Given the description of an element on the screen output the (x, y) to click on. 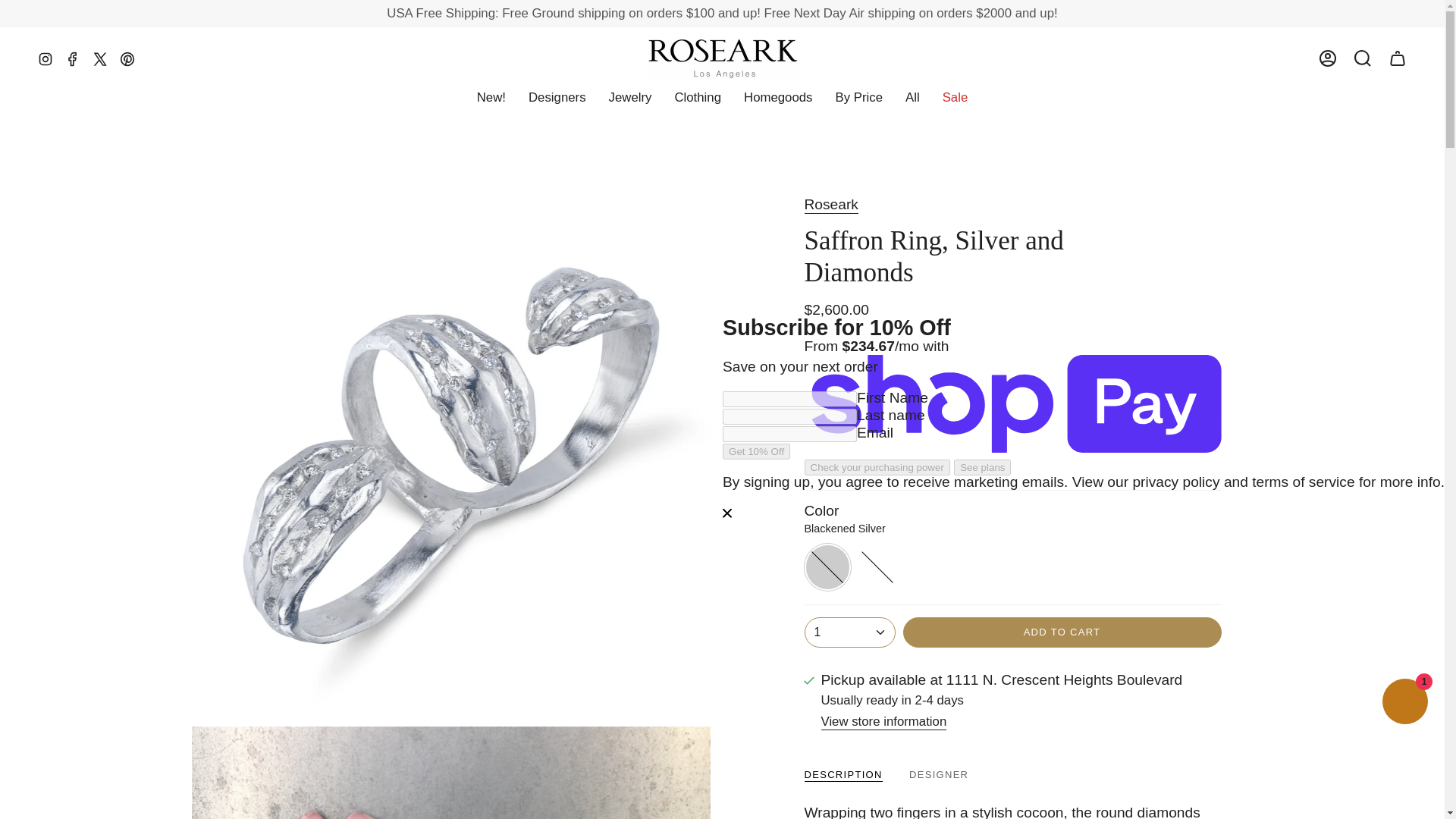
Roseark on Facebook (72, 57)
Twitter (100, 57)
Instagram (44, 57)
Account (1327, 58)
Pinterest (127, 57)
New! (490, 97)
Designers (556, 97)
My Account (1327, 58)
Search (1362, 58)
Cart (1397, 58)
Cart (1397, 58)
Facebook (72, 57)
Roseark on Instagram (44, 57)
Jewelry (629, 97)
Roseark on Twitter (100, 57)
